Given the description of an element on the screen output the (x, y) to click on. 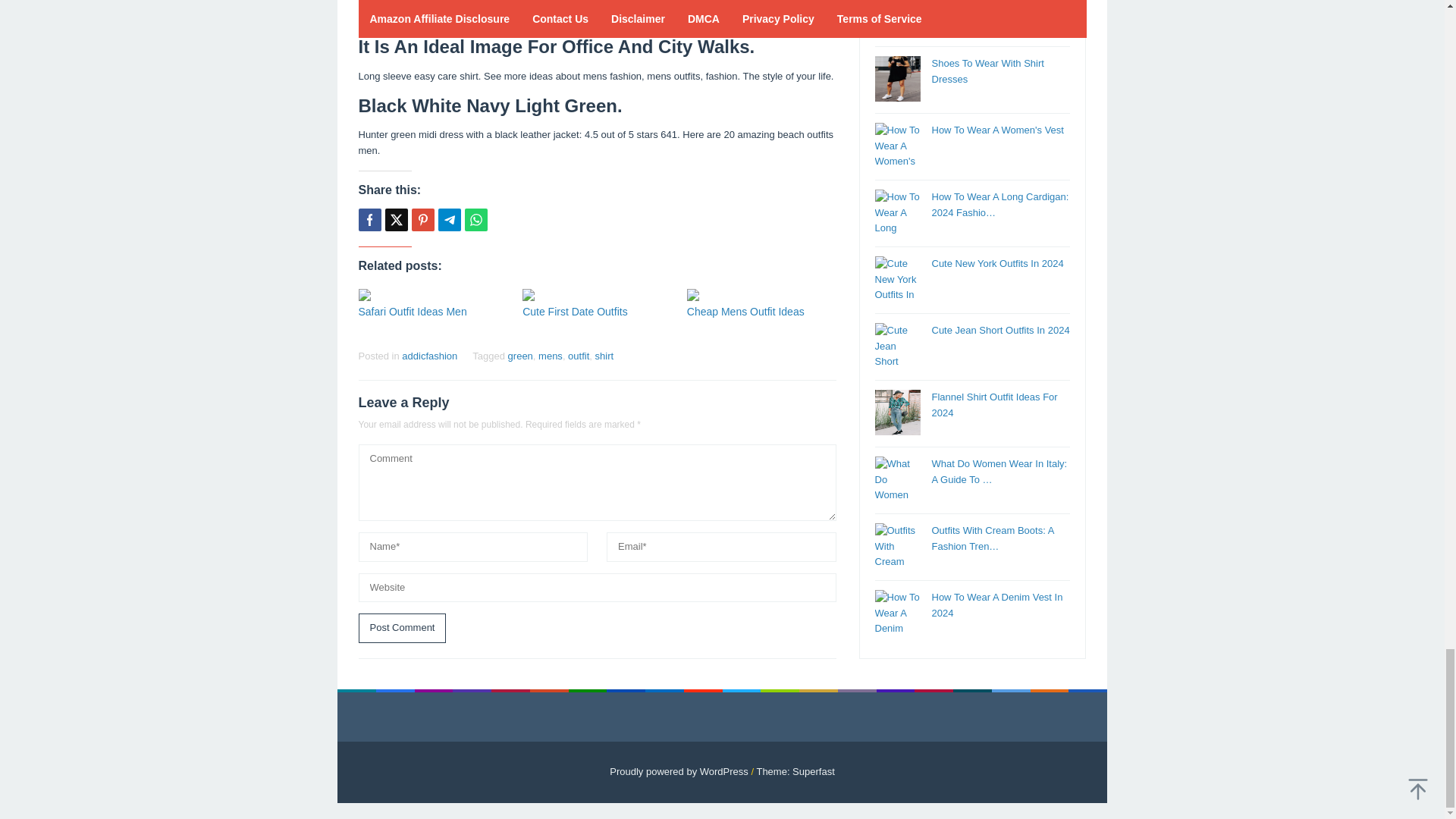
Permalink to: Cute First Date Outfits (574, 311)
Whatsapp (475, 219)
Permalink to: Cute First Date Outfits (596, 295)
green (520, 355)
Permalink to: Cheap Mens Outfit Ideas (761, 295)
Permalink to: Safari Outfit Ideas Men (411, 311)
Cute First Date Outfits (574, 311)
outfit (578, 355)
shirt (604, 355)
Share this (369, 219)
